Given the description of an element on the screen output the (x, y) to click on. 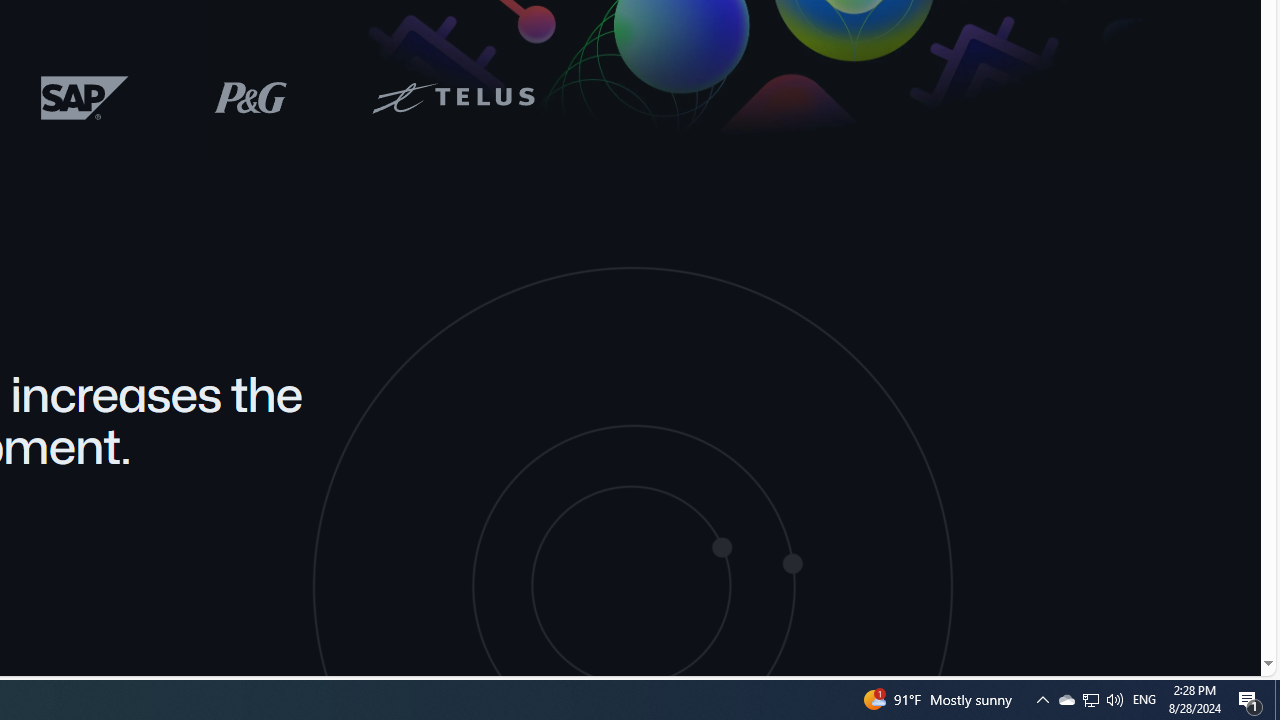
Telus logo (453, 96)
SAP logo (85, 97)
P&G logo (249, 96)
